Given the description of an element on the screen output the (x, y) to click on. 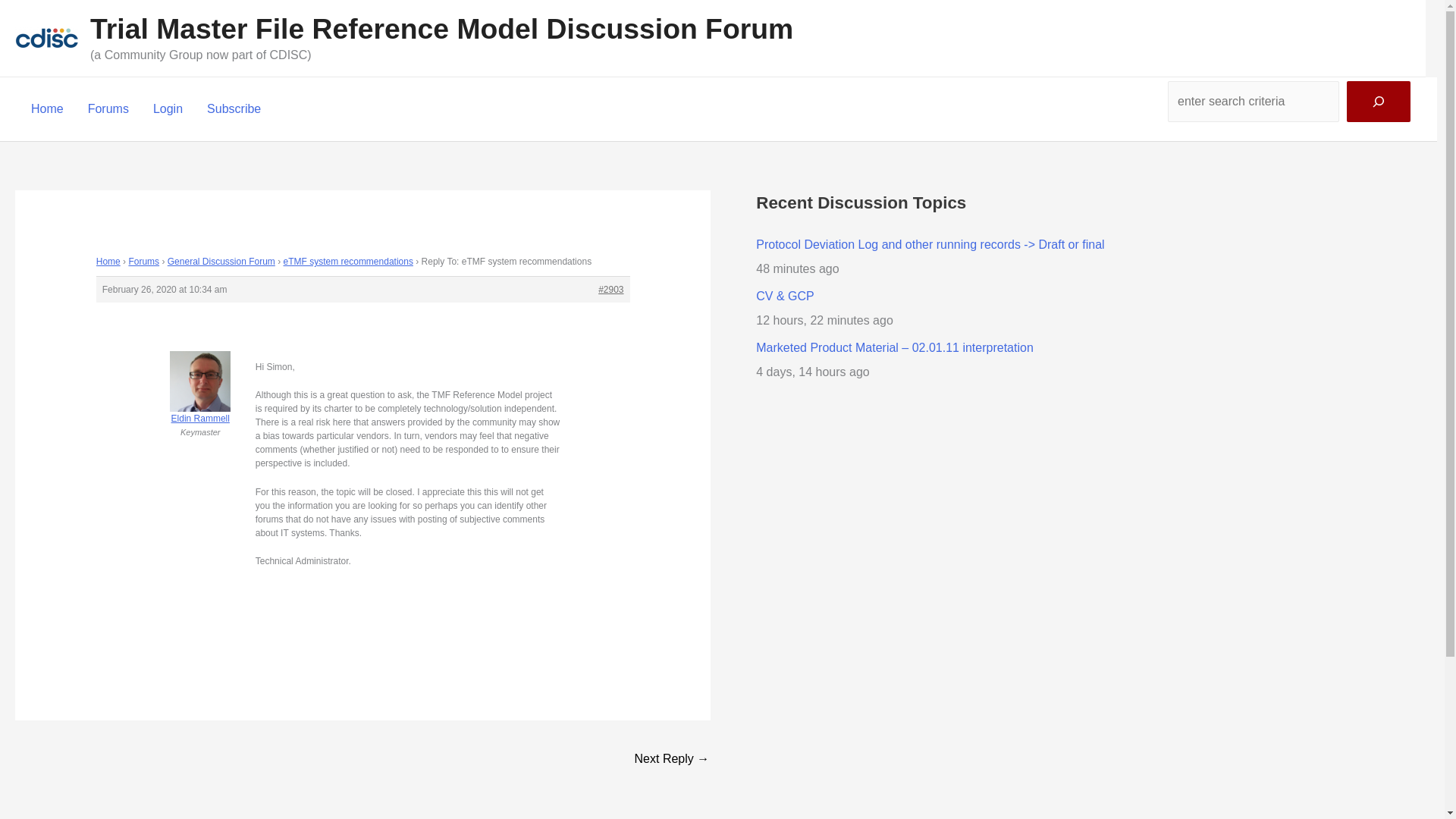
Forums (108, 108)
Subscribe (234, 108)
Login (168, 108)
eTMF system recommendations (348, 261)
Home (108, 261)
General Discussion Forum (221, 261)
Home (46, 108)
Trial Master File Reference Model Discussion Forum (441, 29)
Eldin Rammell (200, 400)
Forums (143, 261)
